Given the description of an element on the screen output the (x, y) to click on. 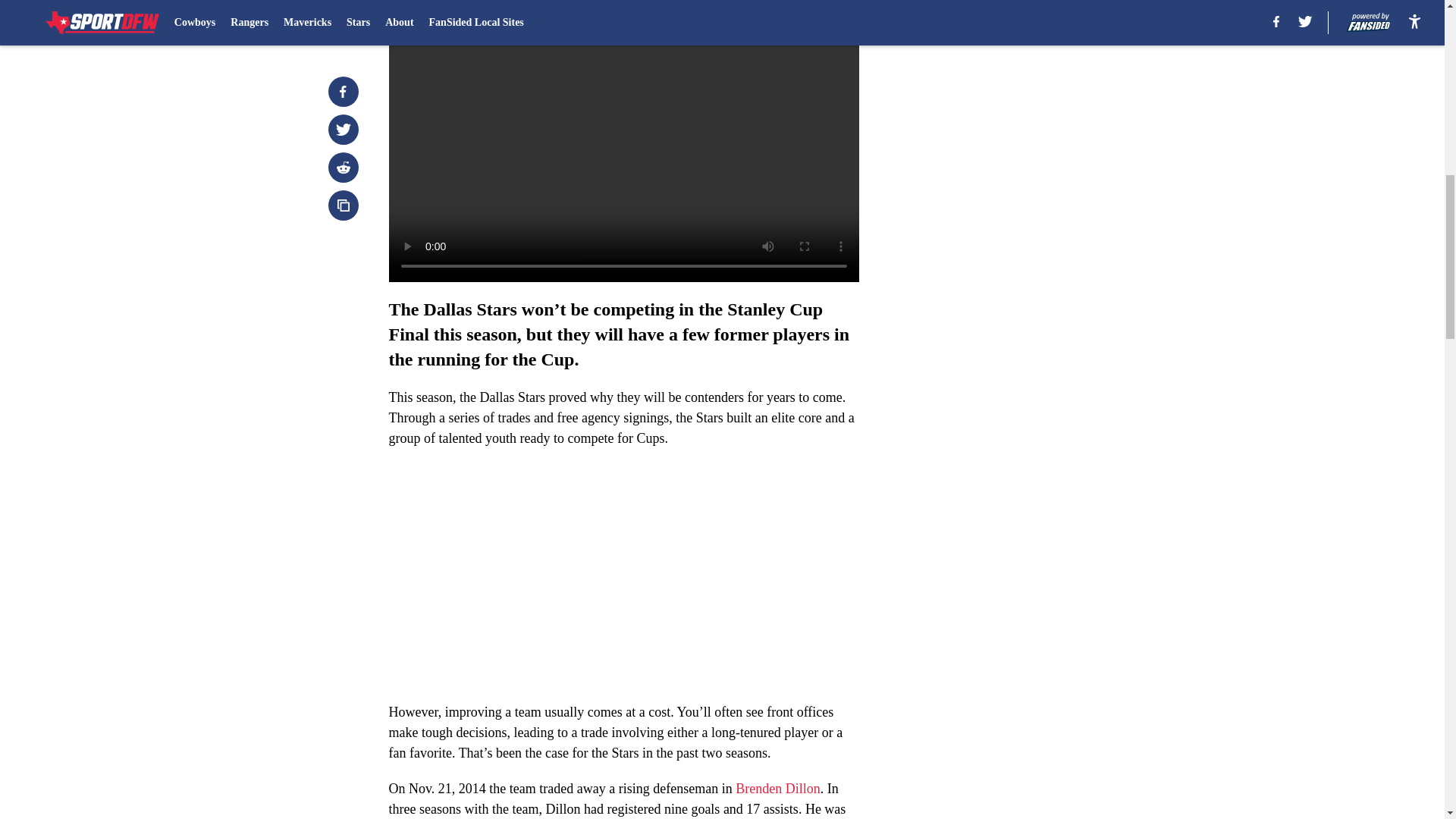
3rd party ad content (1047, 113)
Brenden Dillon (777, 788)
3rd party ad content (1047, 332)
